Given the description of an element on the screen output the (x, y) to click on. 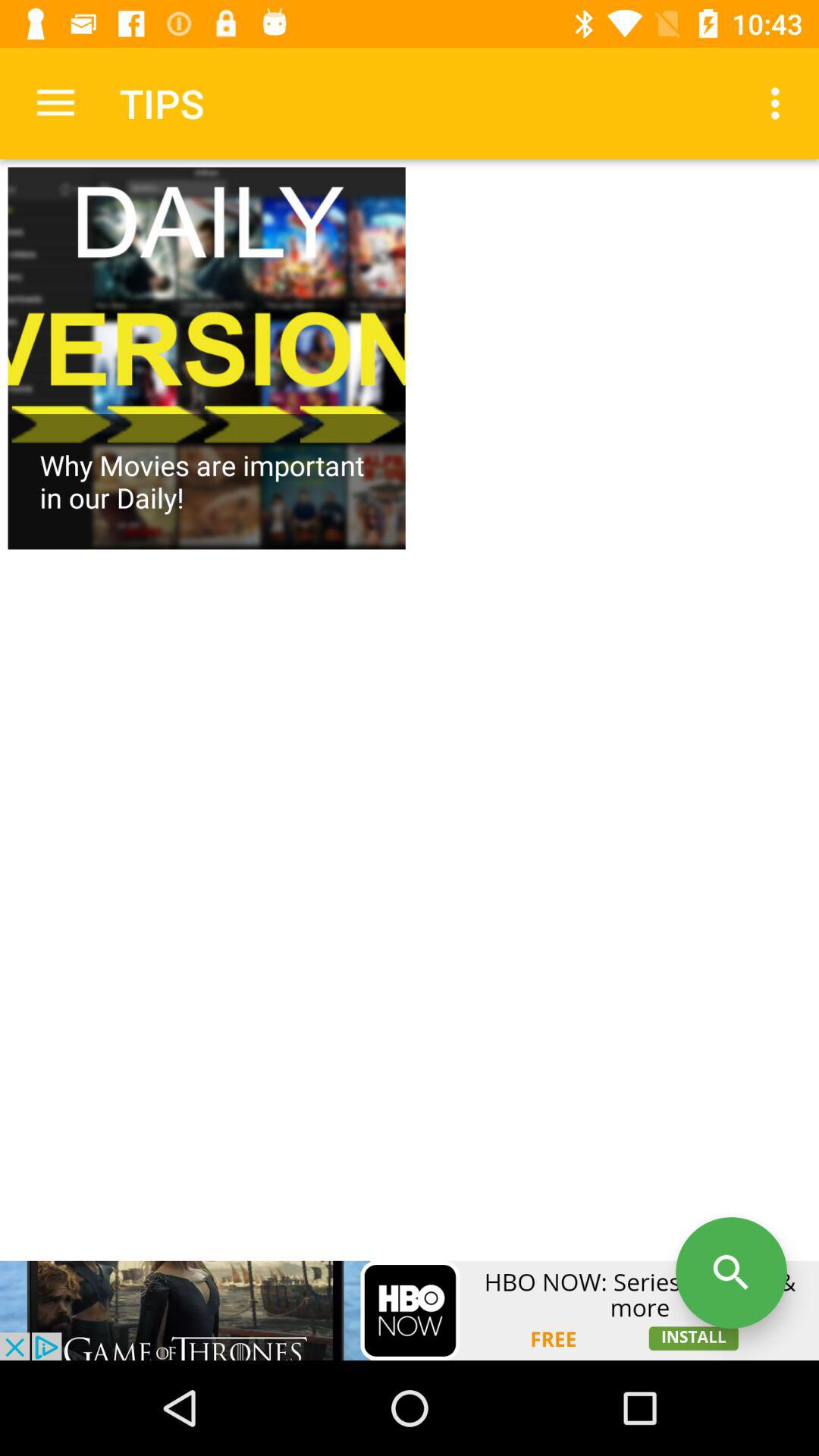
go to advertisement website (409, 1310)
